Given the description of an element on the screen output the (x, y) to click on. 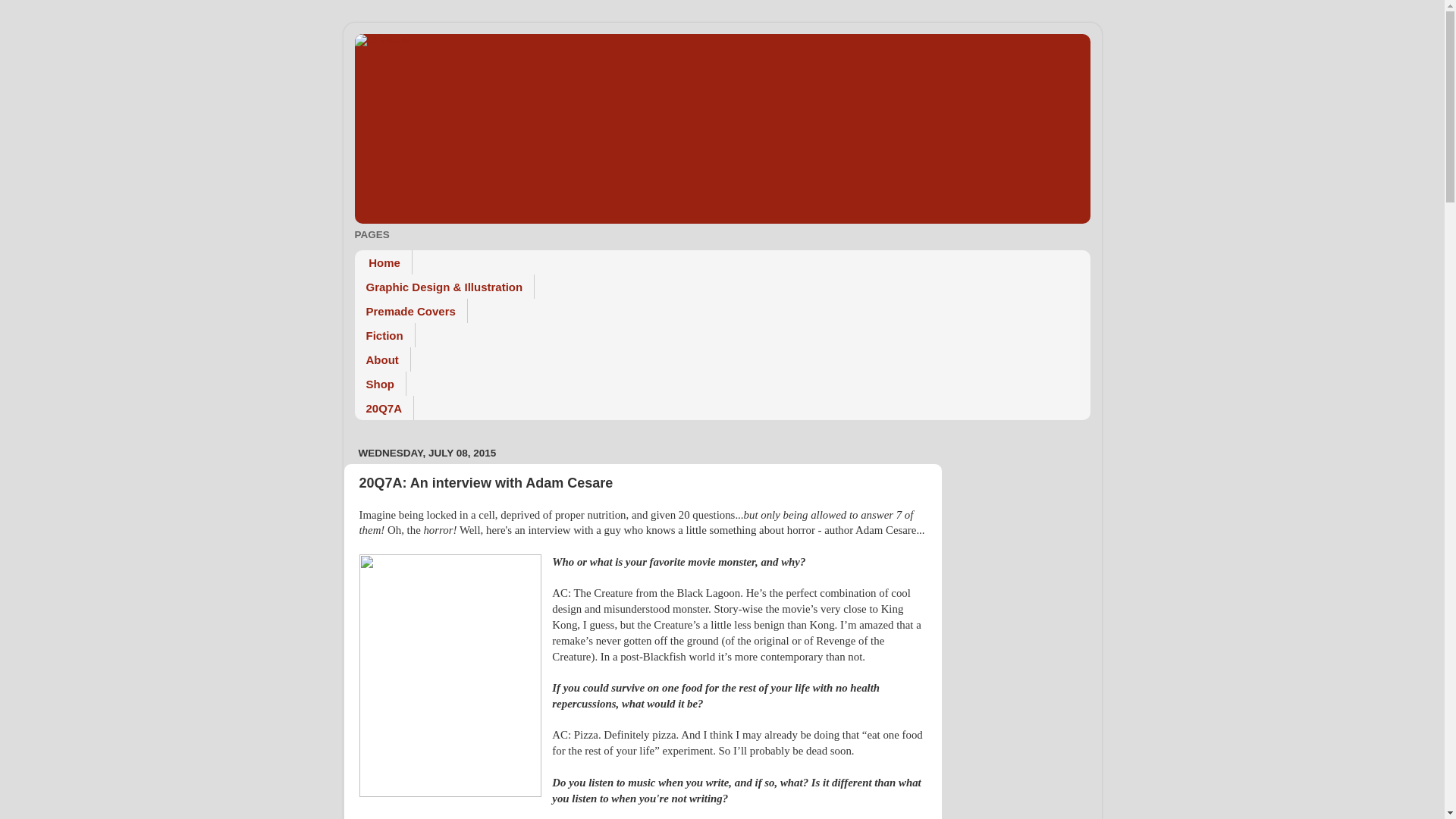
Graphic Design & Illustration Element type: text (444, 286)
Fiction Element type: text (384, 335)
Shop Element type: text (380, 383)
20Q7A Element type: text (384, 407)
Premade Covers Element type: text (410, 310)
About Element type: text (382, 359)
Home Element type: text (383, 262)
